Given the description of an element on the screen output the (x, y) to click on. 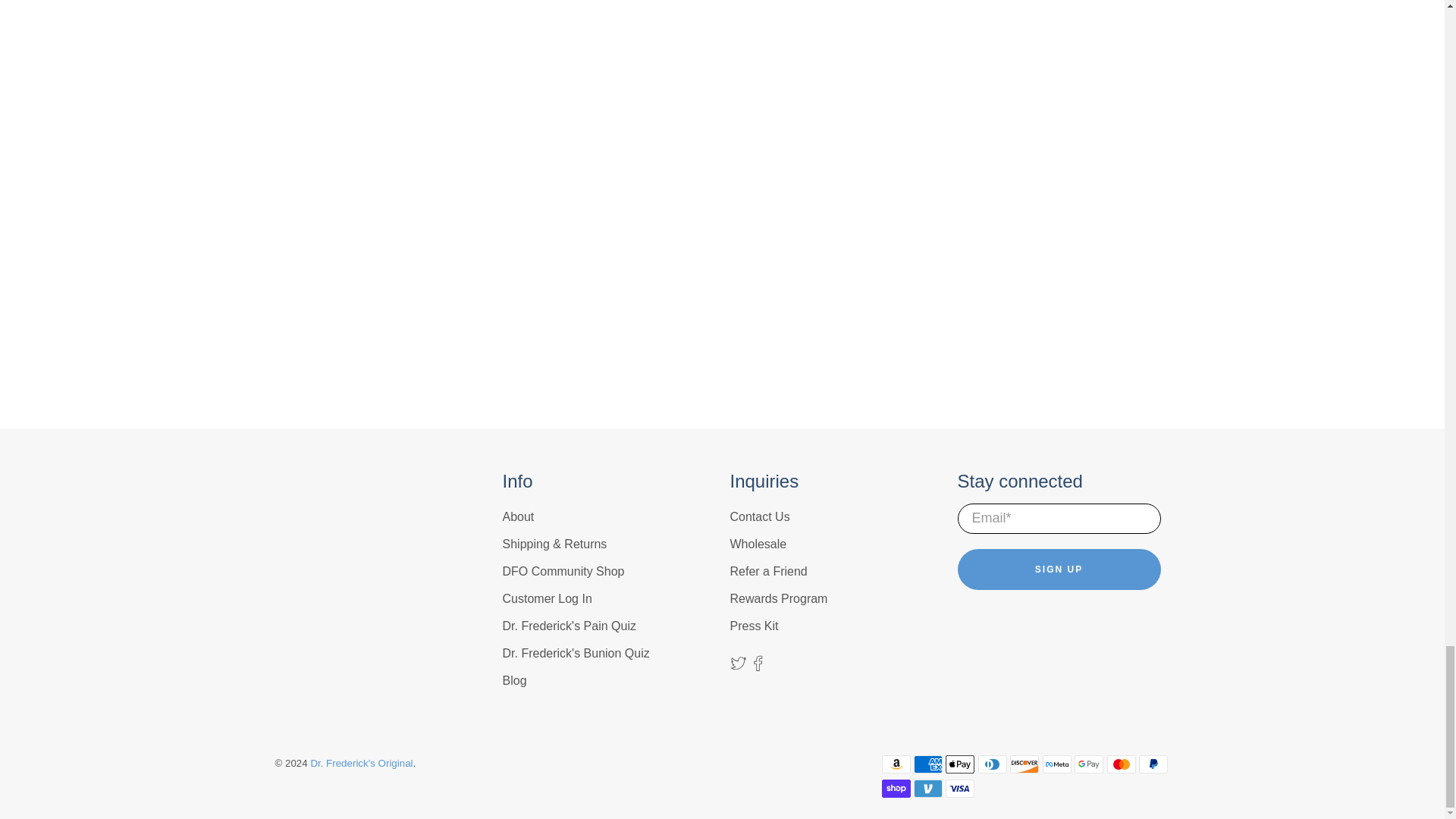
Apple Pay (959, 764)
Discover (1024, 764)
Amazon (895, 764)
Diners Club (992, 764)
Dr. Frederick's Original on Facebook (758, 666)
Dr. Frederick's Original on Twitter (737, 666)
American Express (928, 764)
Dr. Frederick's Original (338, 519)
Meta Pay (1056, 764)
